Given the description of an element on the screen output the (x, y) to click on. 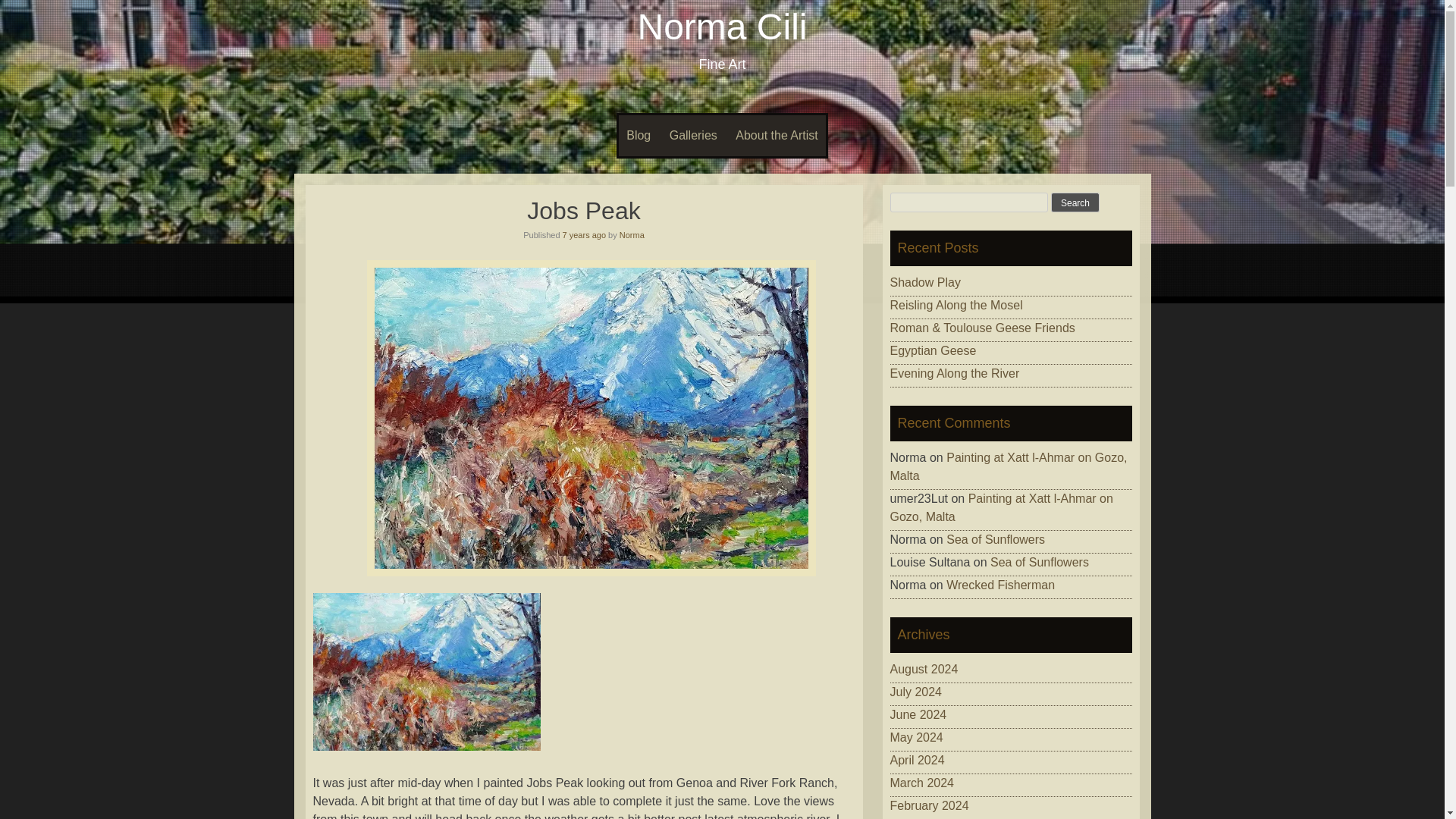
April 7, 2017 (583, 234)
Blog (638, 135)
Evening Along the River (954, 373)
Galleries (693, 135)
May 2024 (916, 737)
Search (1075, 202)
Search (1075, 202)
Sea of Sunflowers (1039, 562)
March 2024 (922, 782)
Reisling Along the Mosel (956, 305)
